Given the description of an element on the screen output the (x, y) to click on. 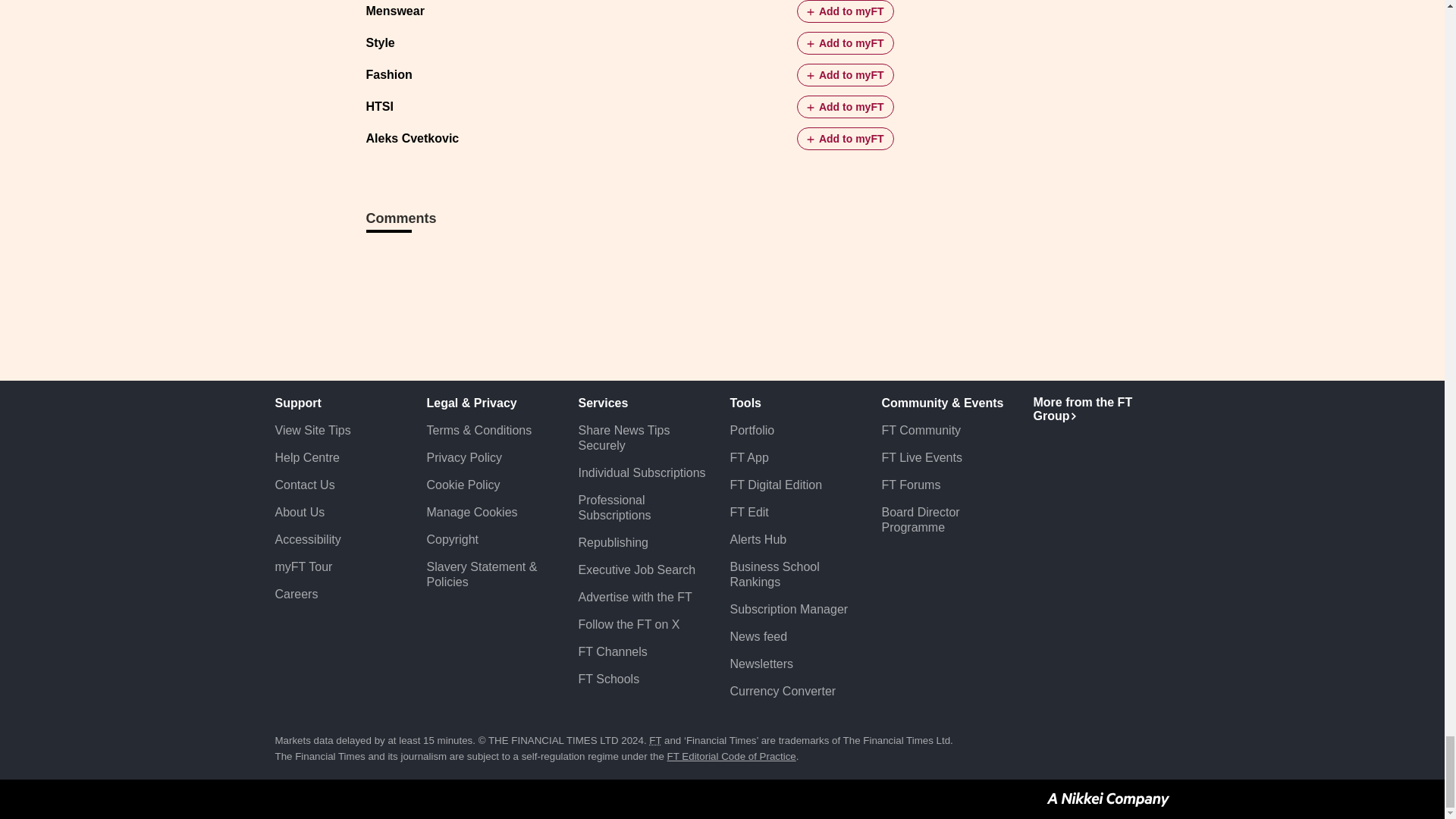
Add HTSI to myFT (844, 106)
Add Fashion to myFT (844, 74)
Add Menswear to myFT (844, 11)
Add Style to myFT (844, 42)
